Given the description of an element on the screen output the (x, y) to click on. 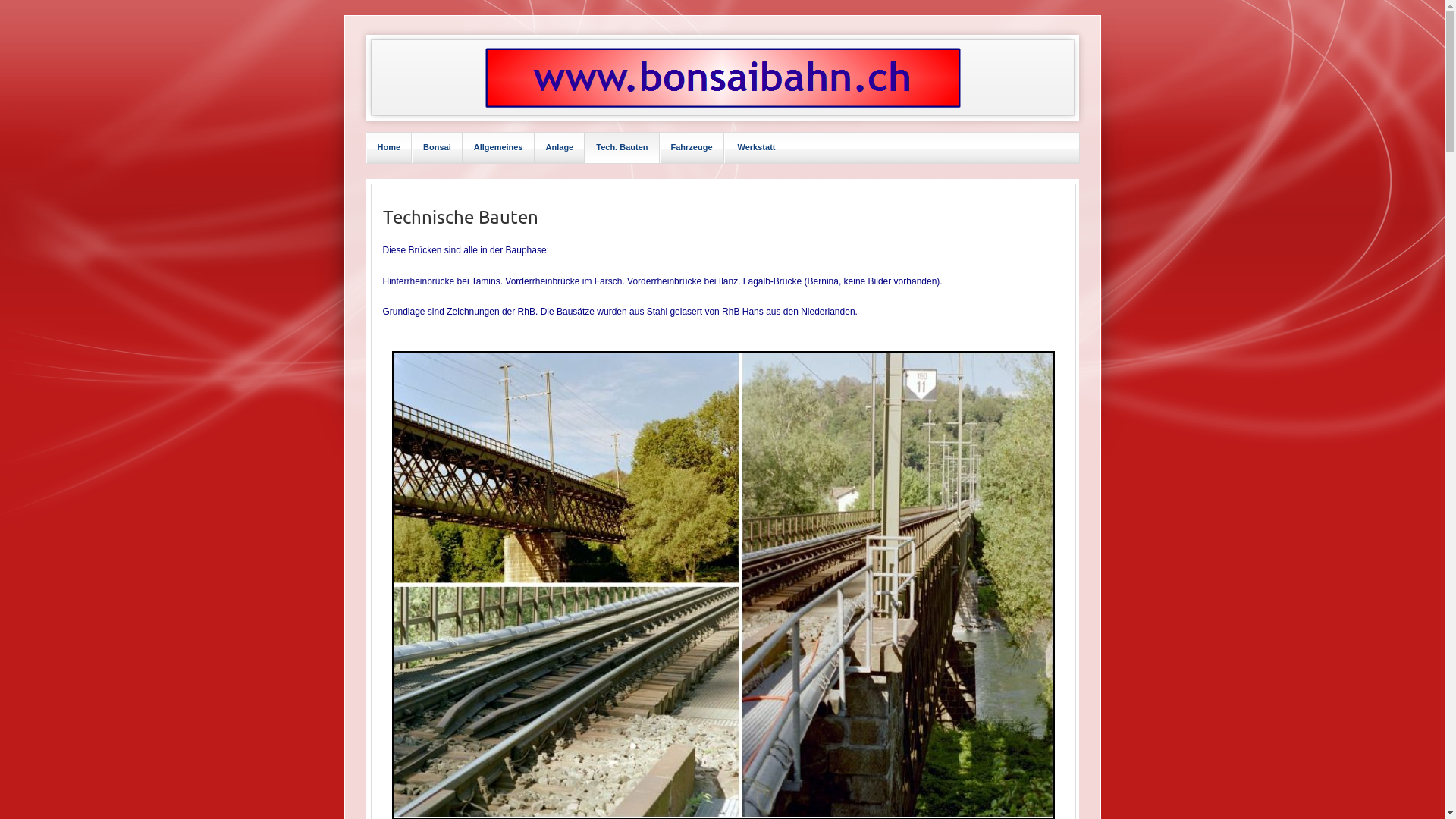
Allgemeines Element type: text (498, 146)
Home Element type: text (389, 146)
Werkstatt Element type: text (756, 146)
Tech. Bauten Element type: text (621, 146)
Anlage Element type: text (559, 146)
Fahrzeuge Element type: text (691, 146)
Bonsai Element type: text (436, 146)
